Given the description of an element on the screen output the (x, y) to click on. 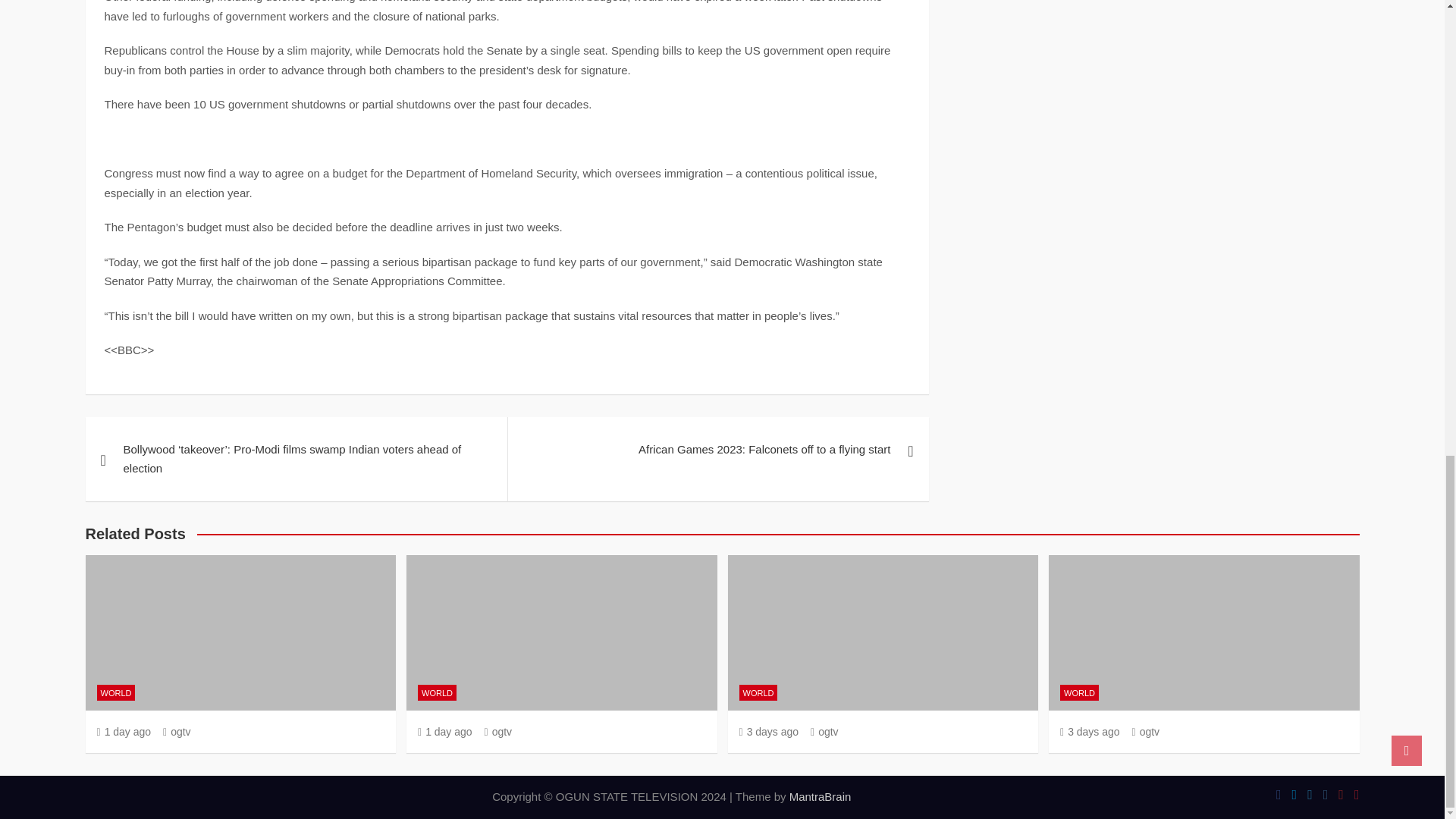
ogtv (176, 731)
1 day ago (124, 731)
Telegram boss banned from leaving France in criminal probe (767, 731)
WORLD (116, 692)
African Games 2023: Falconets off to a flying start (717, 449)
MantraBrain (820, 795)
